Given the description of an element on the screen output the (x, y) to click on. 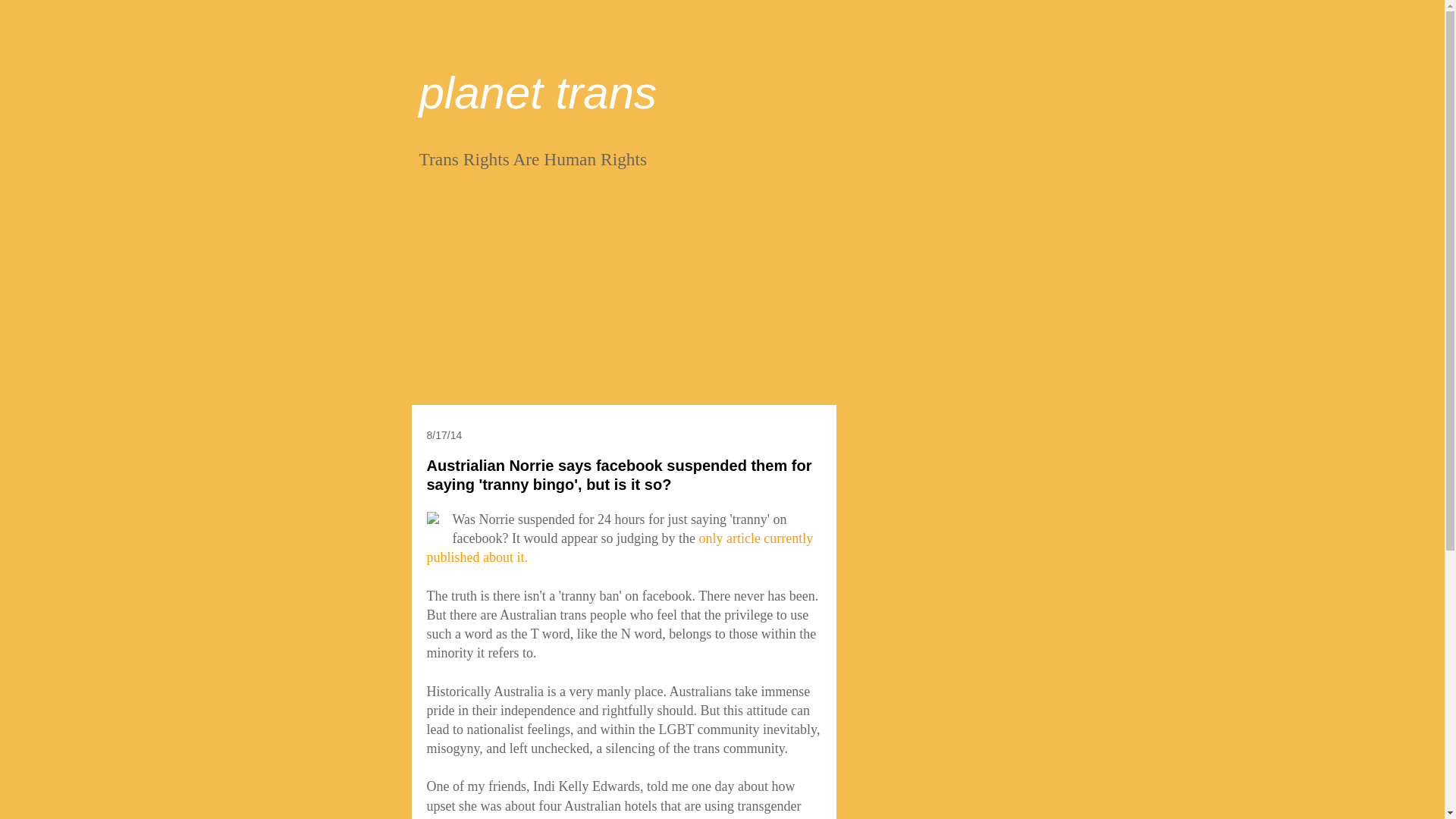
only article currently published about it. (619, 547)
planet trans (537, 92)
